Given the description of an element on the screen output the (x, y) to click on. 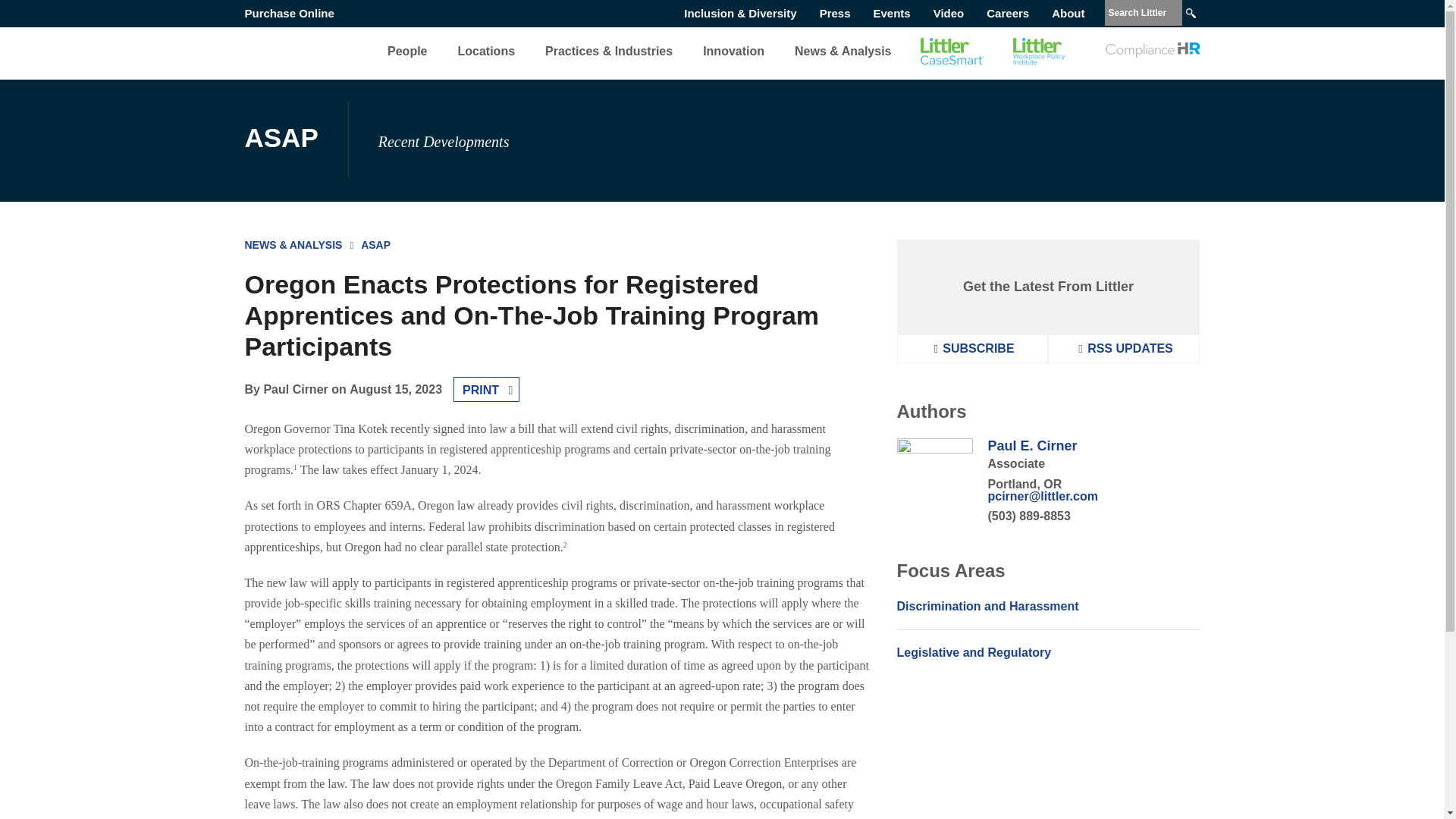
Littler Mendelson P.C. Home (283, 51)
